Given the description of an element on the screen output the (x, y) to click on. 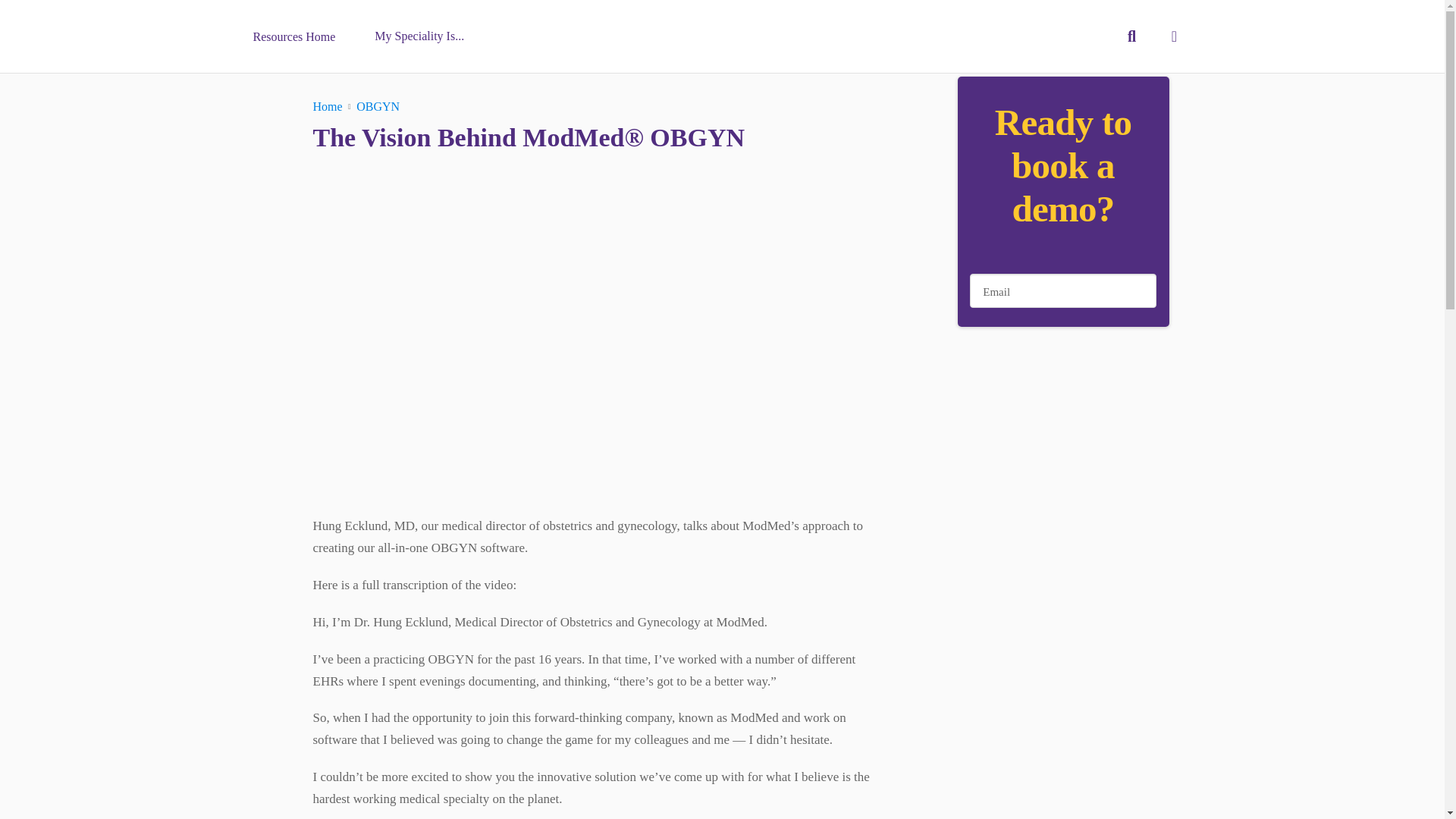
OBGYN (418, 36)
Home (377, 106)
Share this Post (327, 106)
Open Search Box (1174, 36)
Email (1131, 36)
Share this Post (1062, 290)
Open search box (1174, 36)
Resources Home (1131, 36)
